Given the description of an element on the screen output the (x, y) to click on. 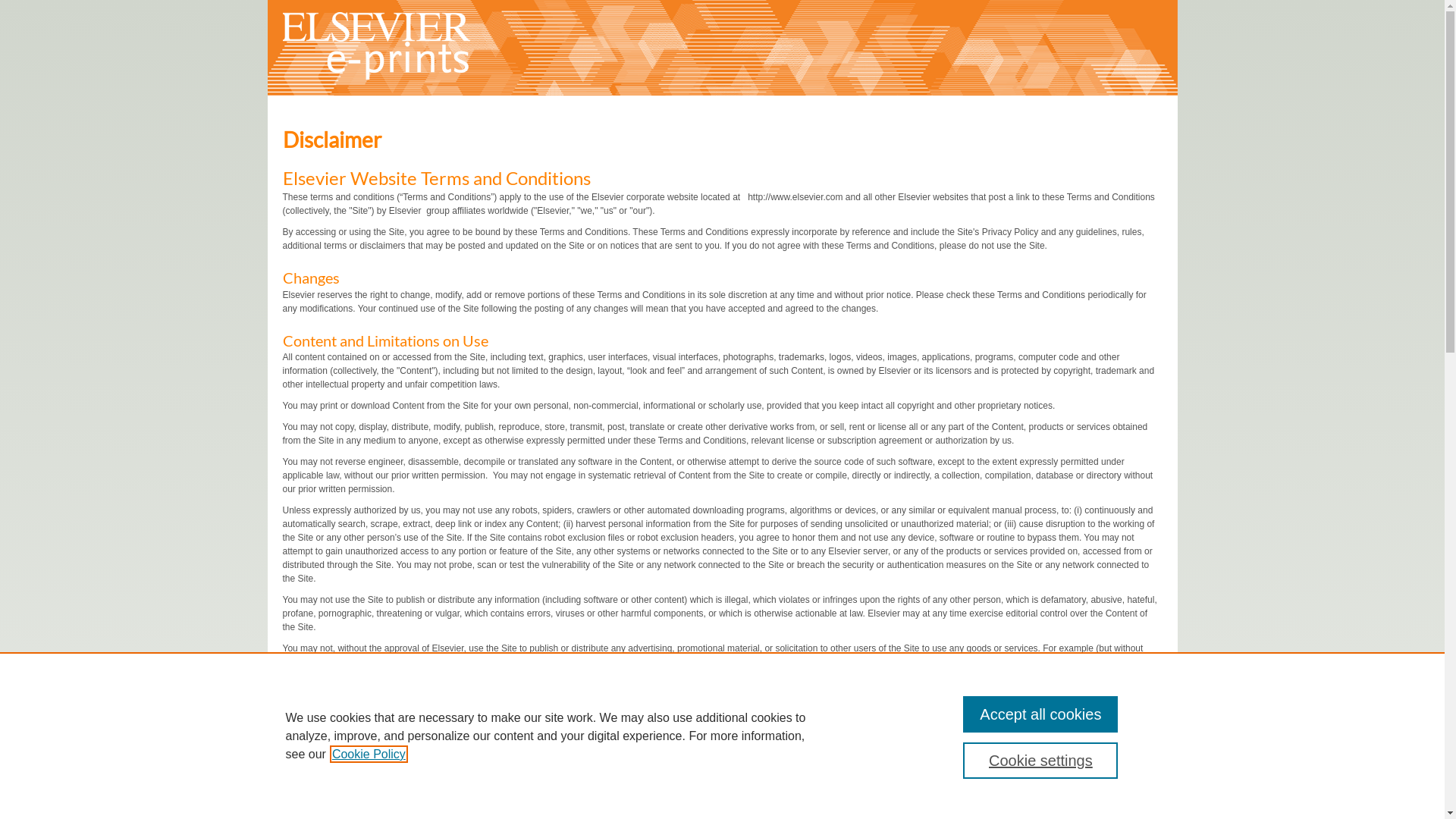
Cookie Policy Element type: text (368, 753)
Accept all cookies Element type: text (1040, 714)
Cookie settings Element type: text (1040, 760)
Skip to main content Element type: text (41, 0)
Home Element type: hover (376, 76)
